Given the description of an element on the screen output the (x, y) to click on. 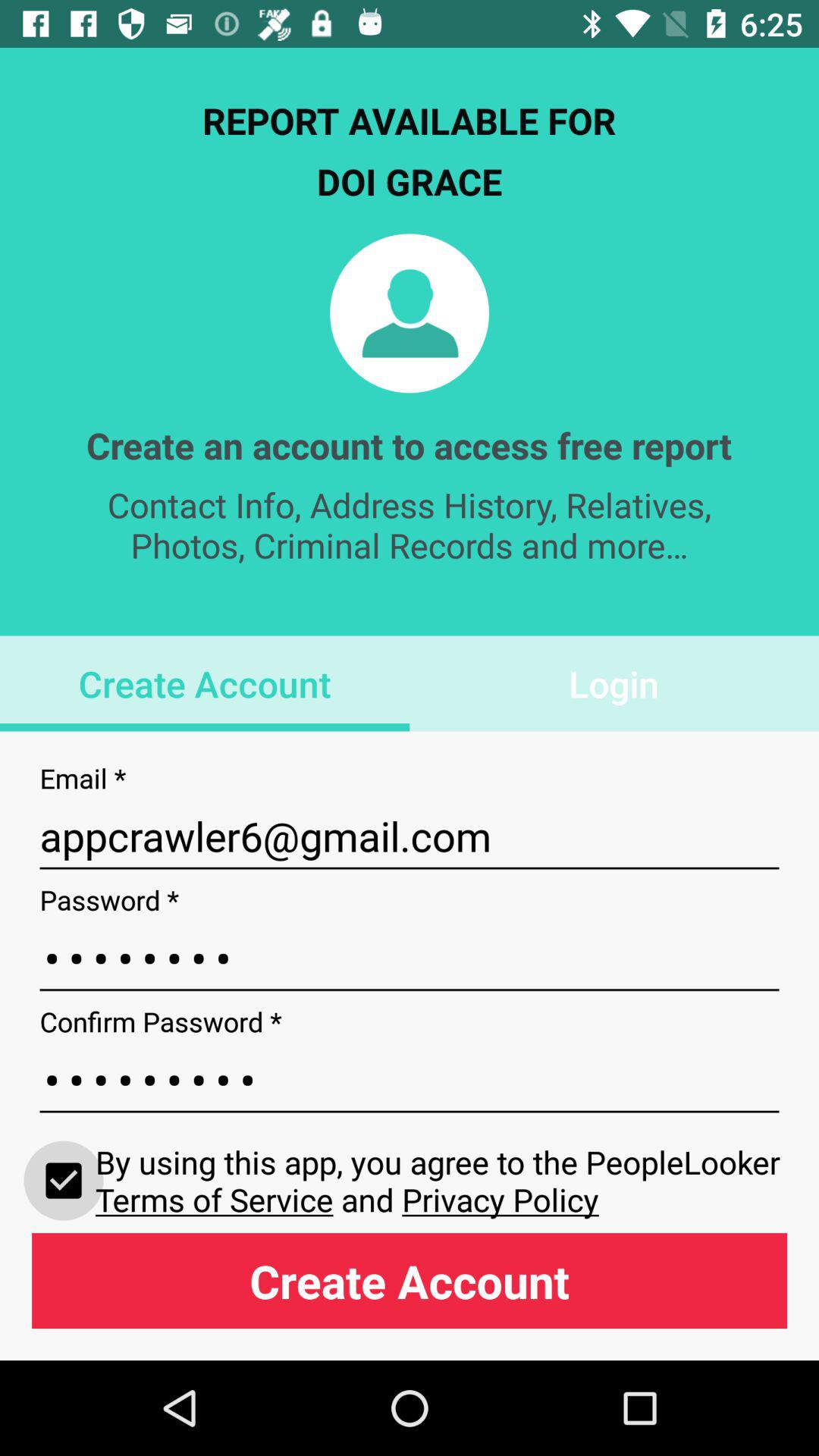
turn on the item below the create account item (409, 836)
